Given the description of an element on the screen output the (x, y) to click on. 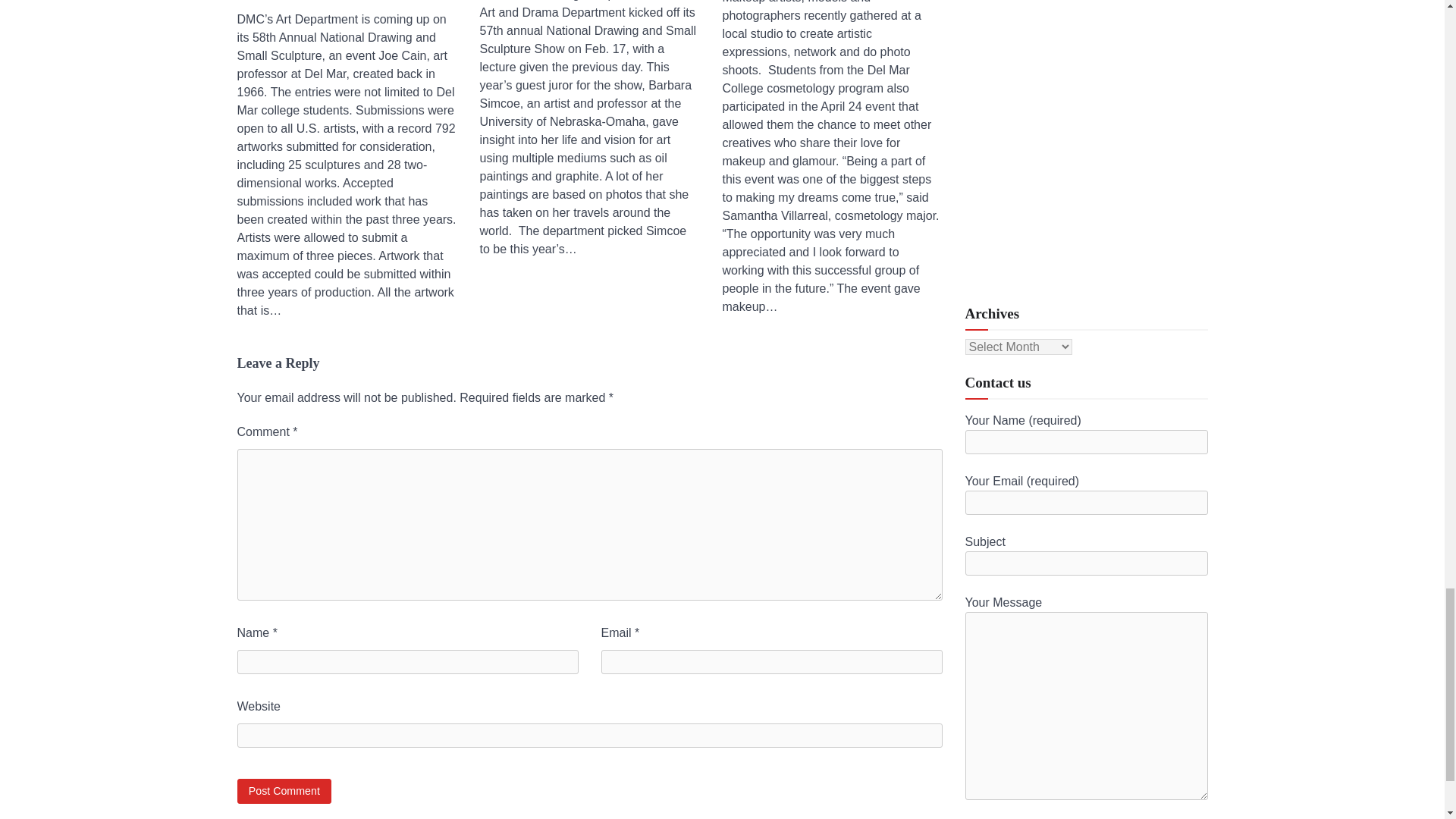
Post Comment (283, 790)
Post Comment (283, 790)
